Given the description of an element on the screen output the (x, y) to click on. 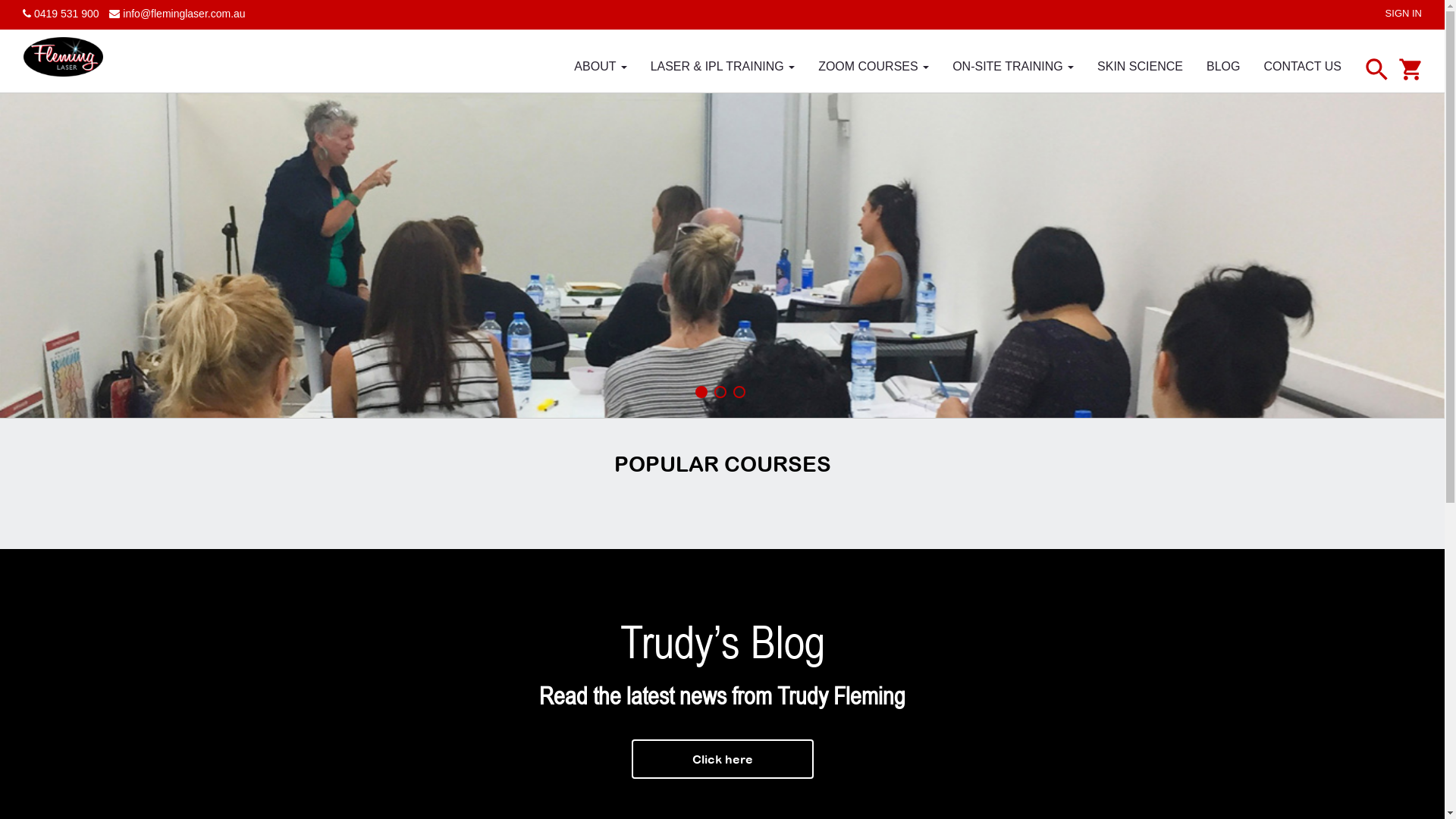
LASER & IPL TRAINING Element type: text (722, 65)
Click here Element type: text (721, 758)
ON-SITE TRAINING Element type: text (1013, 65)
info@fleminglaser.com.au Element type: text (176, 13)
SIGN IN Element type: text (1403, 13)
CONTACT US Element type: text (1302, 65)
ABOUT Element type: text (599, 65)
SKIN SCIENCE Element type: text (1139, 65)
0419 531 900 Element type: text (60, 13)
ZOOM COURSES Element type: text (873, 65)
Fleming Laser Element type: hover (63, 56)
BLOG Element type: text (1223, 65)
sign up Element type: text (721, 296)
